Given the description of an element on the screen output the (x, y) to click on. 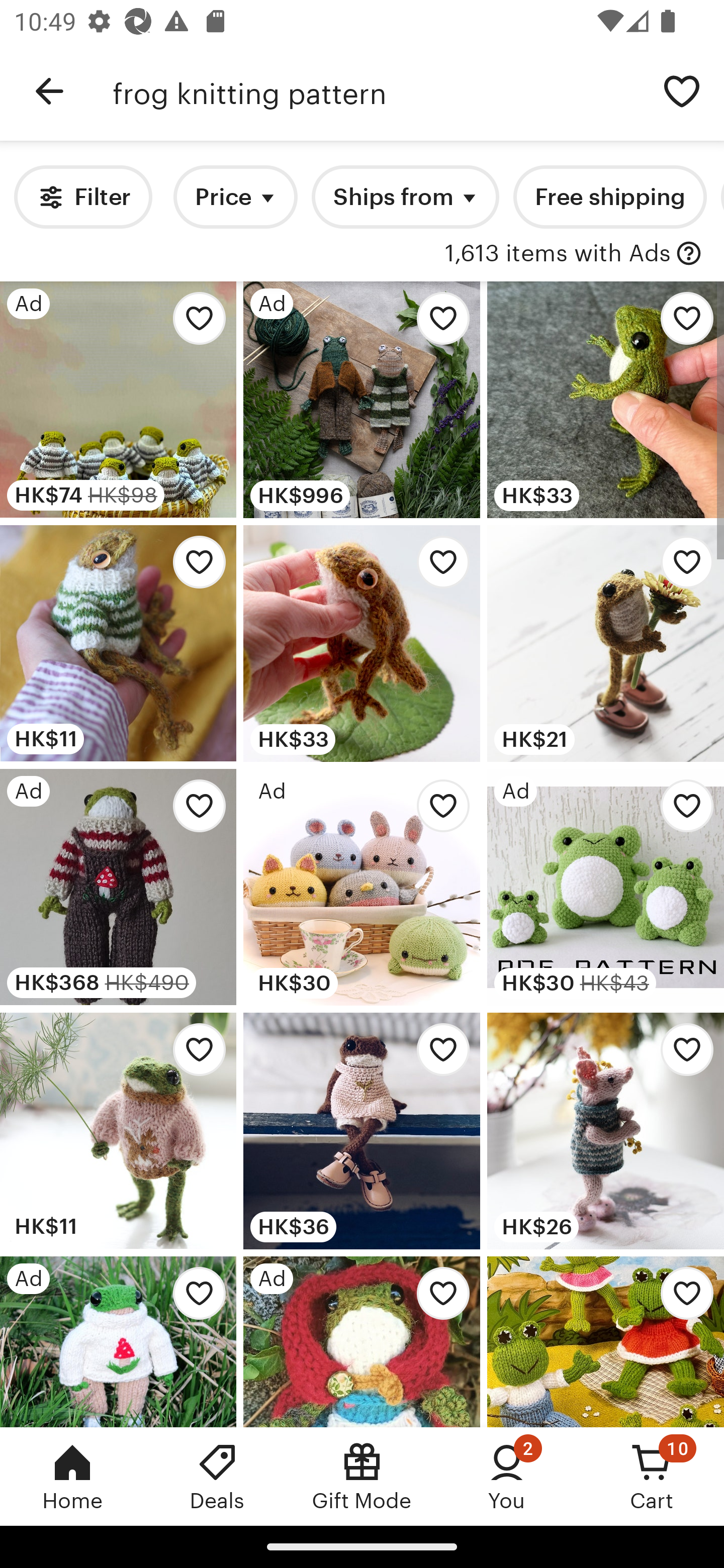
Navigate up (49, 91)
Save search (681, 90)
frog knitting pattern (375, 91)
Filter (82, 197)
Price (235, 197)
Ships from (405, 197)
Free shipping (609, 197)
1,613 items with Ads (558, 253)
with Ads (688, 253)
Add GREEN FROG Knitting Pattern to favorites (681, 322)
Add KNITTING PATTERN Froggie Sweater to favorites (194, 567)
Add FROG Knitting Pattern to favorites (438, 567)
Add CROCHET TOAD crochet pattern to favorites (681, 567)
Add Bunimals Knitting Pattern PDF to favorites (438, 810)
Add FROG Crochet Pattern to favorites (438, 1054)
Add Family frogs knitting pattern to favorites (681, 1297)
Deals (216, 1475)
Gift Mode (361, 1475)
You, 2 new notifications You (506, 1475)
Cart, 10 new notifications Cart (651, 1475)
